Given the description of an element on the screen output the (x, y) to click on. 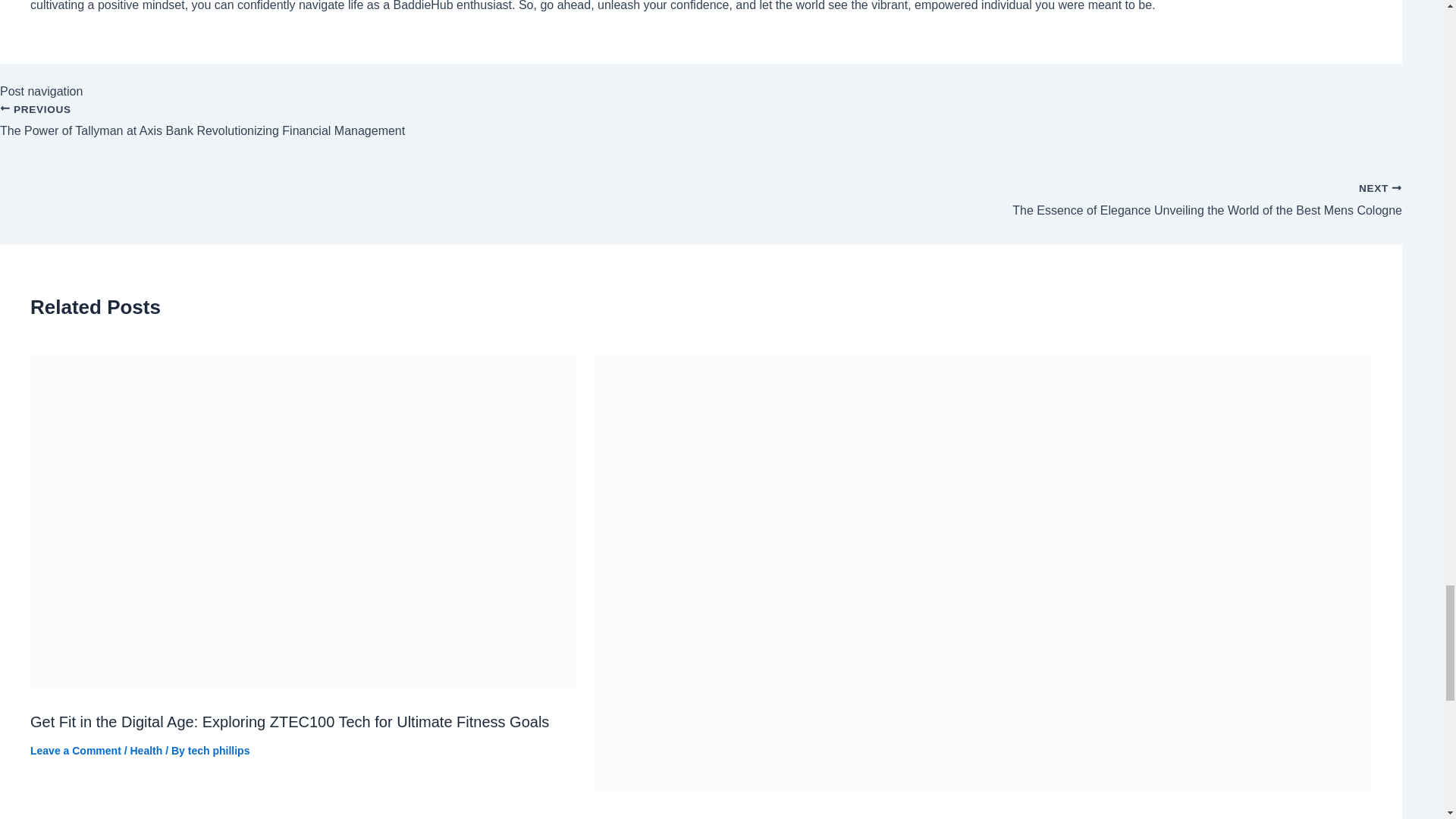
View all posts by tech phillips (218, 750)
